Given the description of an element on the screen output the (x, y) to click on. 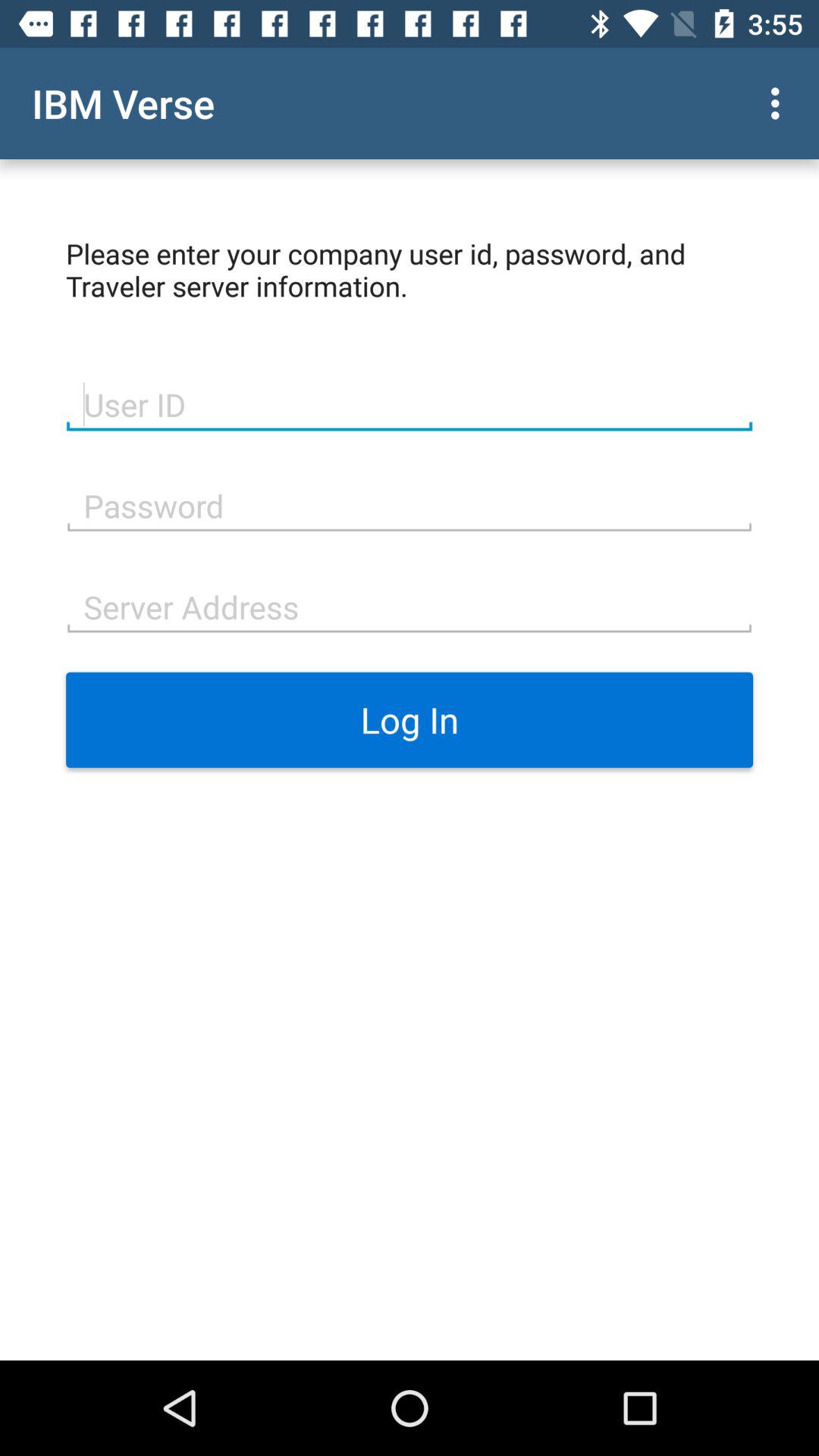
open item above please enter your icon (779, 103)
